Given the description of an element on the screen output the (x, y) to click on. 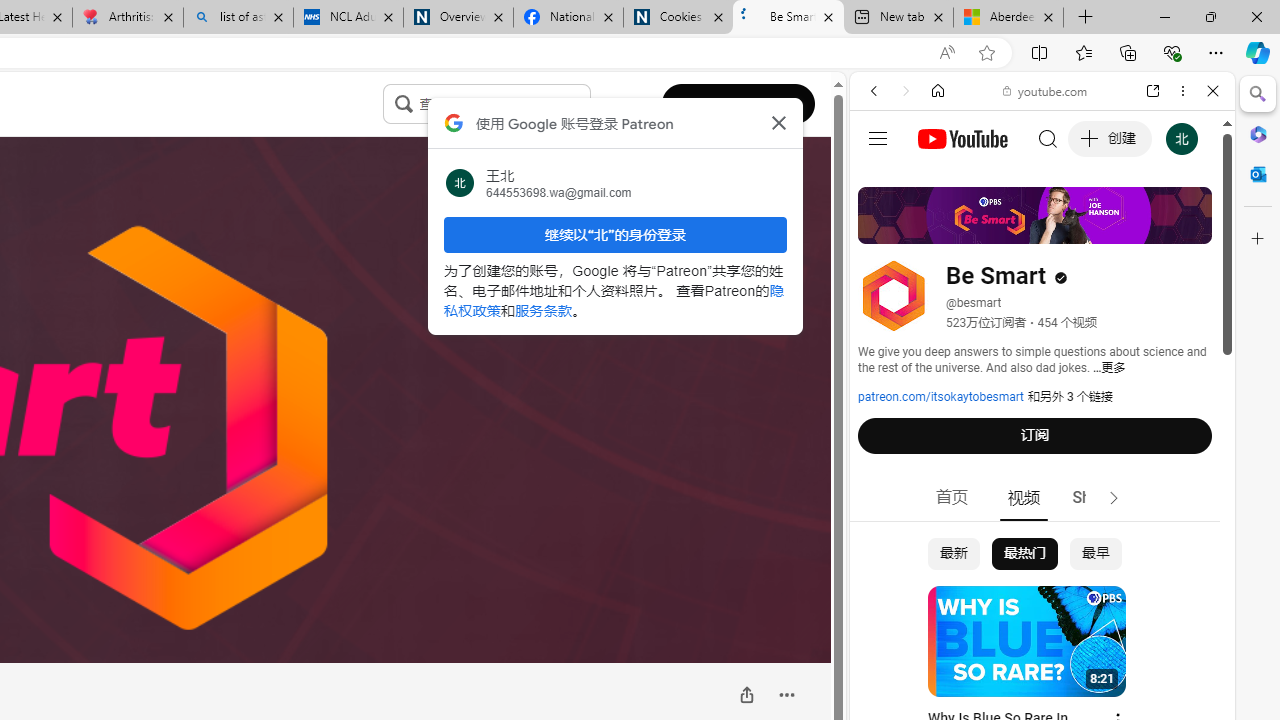
Class: Bz112c Bz112c-r9oPif (778, 122)
Be Smart | creating Science videos | Patreon (788, 17)
Show More Music (1164, 546)
